Given the description of an element on the screen output the (x, y) to click on. 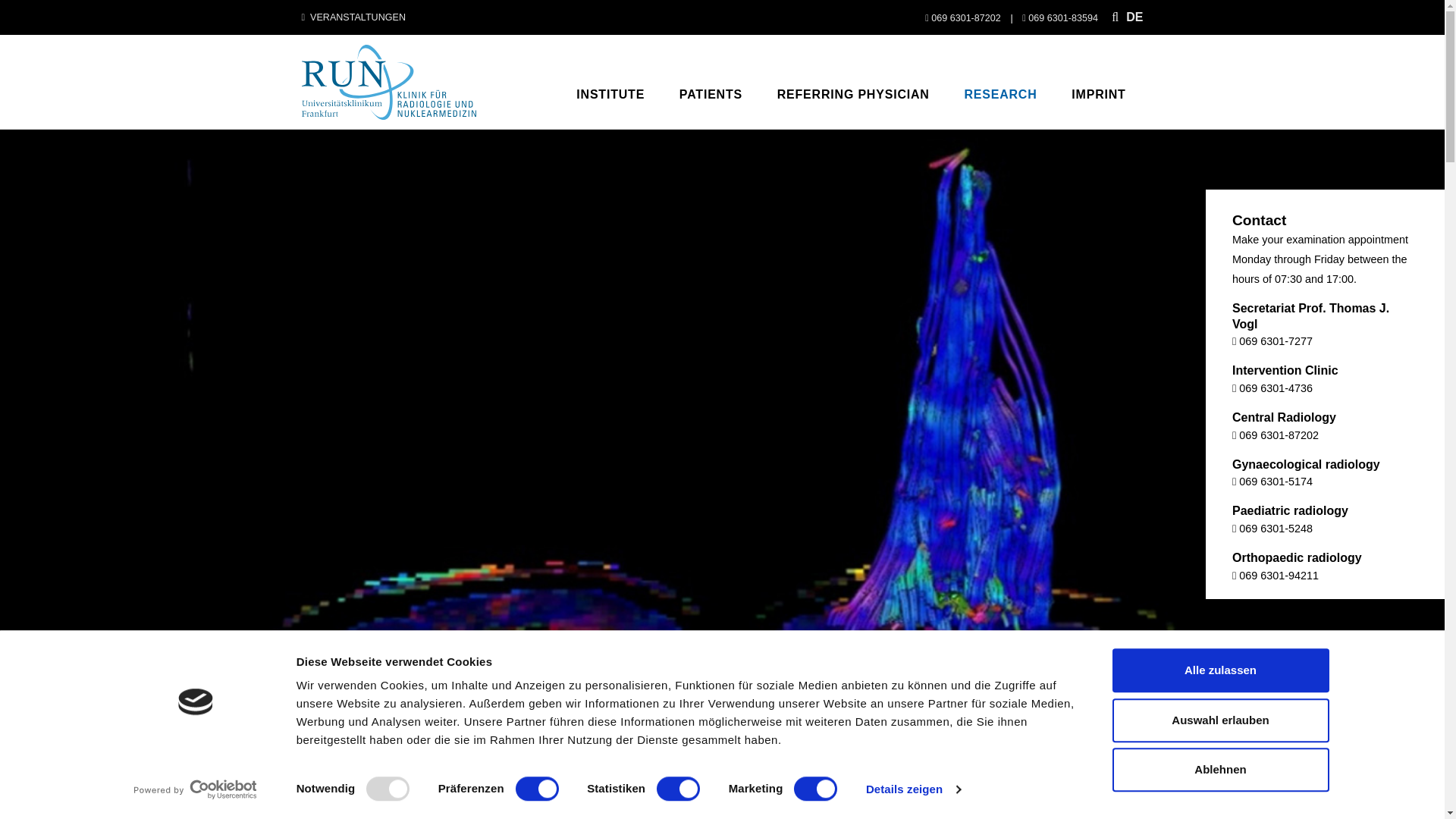
INSTITUTE (610, 94)
Institute (610, 94)
 069 6301-87202 (962, 18)
Ablehnen (1219, 769)
Alle zulassen (1219, 670)
DE (1133, 16)
Details zeigen (913, 789)
Auswahl erlauben (1219, 720)
 069 6301-83594 (1059, 18)
  VERANSTALTUNGEN (353, 17)
